Given the description of an element on the screen output the (x, y) to click on. 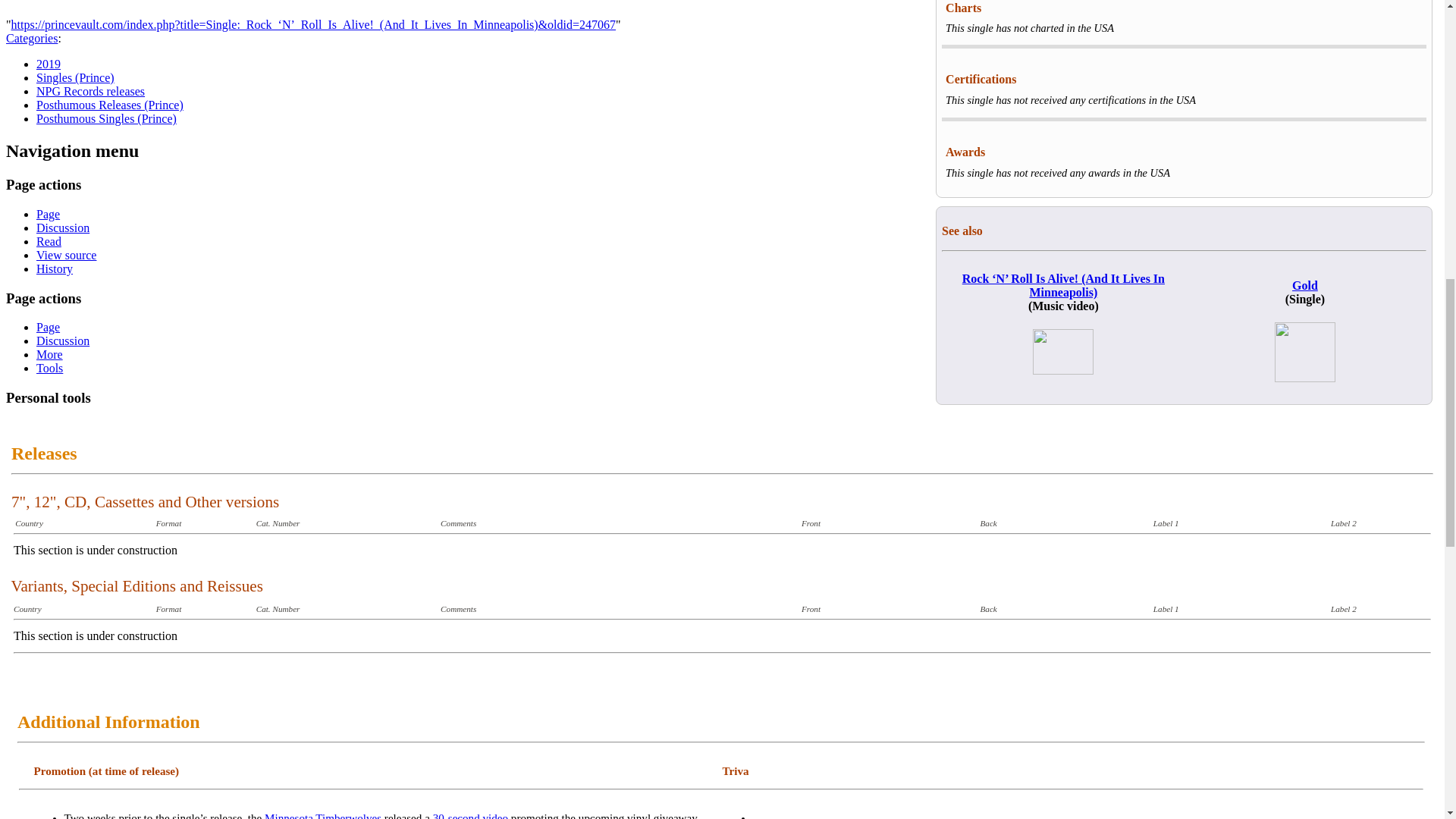
Single: Gold (1305, 377)
Single: Gold (1304, 285)
Gold (1304, 285)
